Given the description of an element on the screen output the (x, y) to click on. 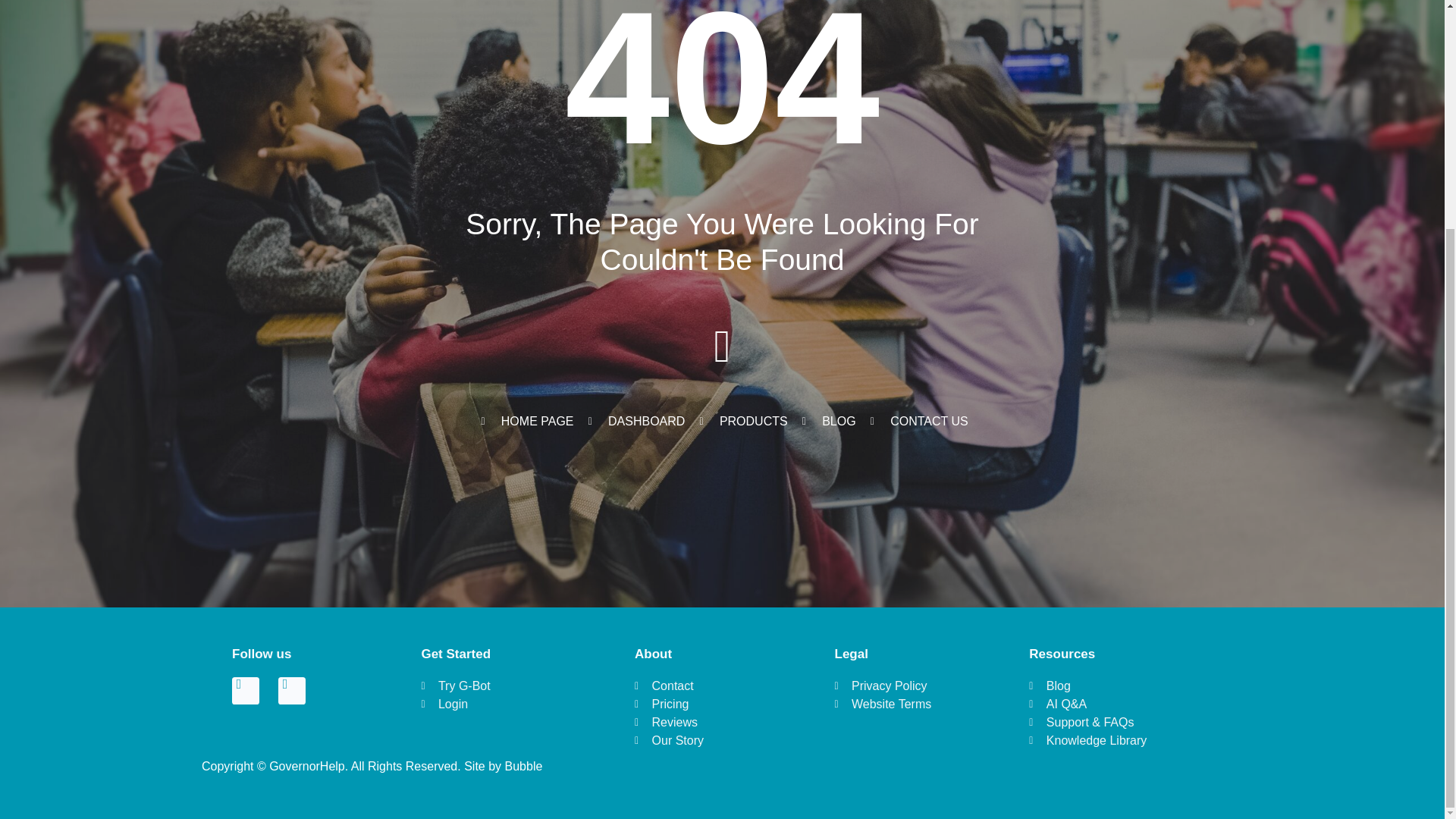
CONTACT US (917, 421)
BLOG (826, 421)
Website Terms (901, 704)
HOME PAGE (524, 421)
PRODUCTS (740, 421)
Our Story (703, 741)
Reviews (703, 722)
Login (496, 704)
Knowledge Library (1120, 741)
DASHBOARD (634, 421)
Pricing (703, 704)
Blog (1120, 686)
Try G-Bot (496, 686)
Contact (703, 686)
Privacy Policy (901, 686)
